Given the description of an element on the screen output the (x, y) to click on. 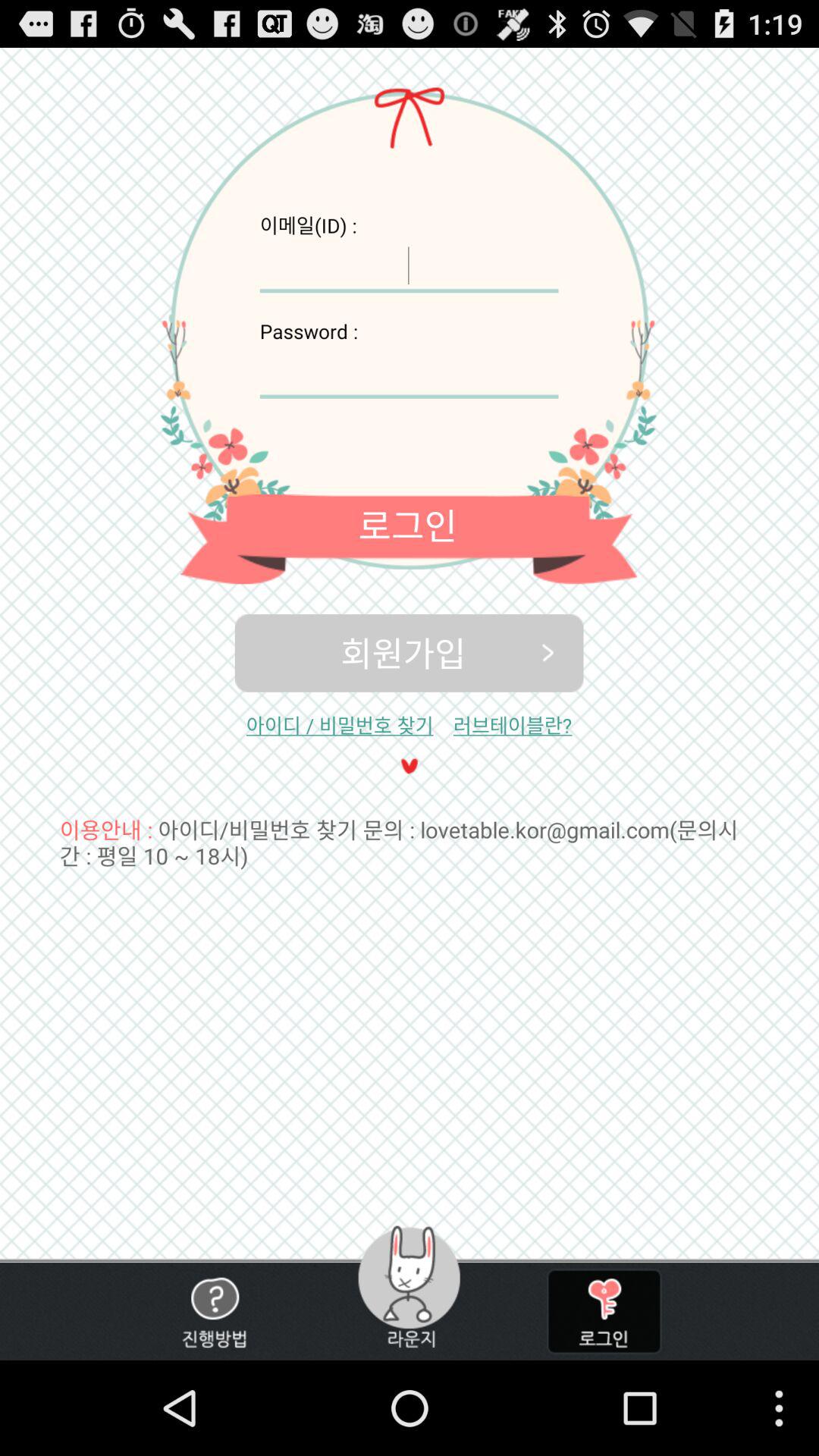
enter id (408, 265)
